Given the description of an element on the screen output the (x, y) to click on. 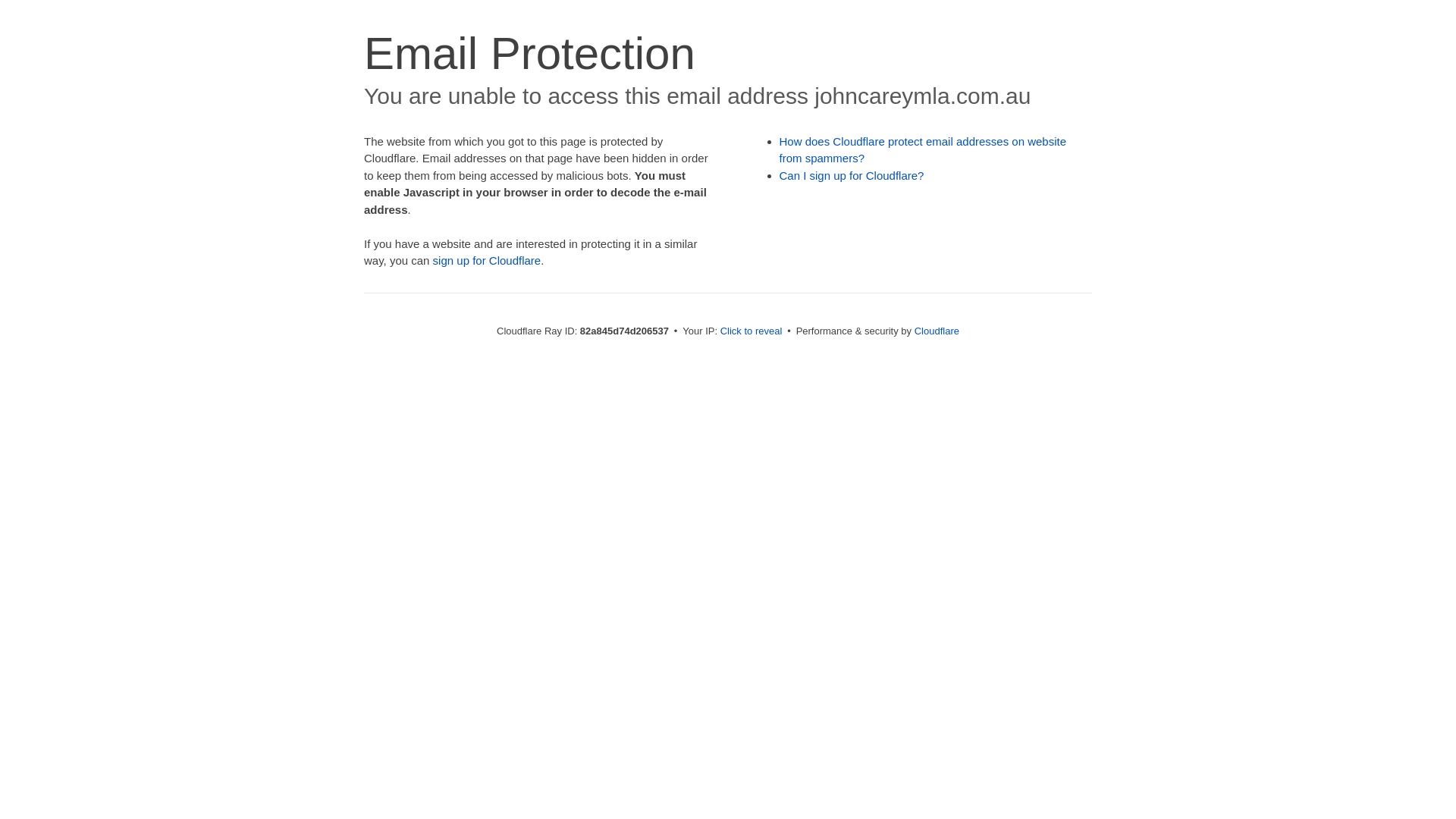
Can I sign up for Cloudflare? Element type: text (851, 175)
Cloudflare Element type: text (936, 330)
Click to reveal Element type: text (751, 330)
sign up for Cloudflare Element type: text (487, 260)
